Given the description of an element on the screen output the (x, y) to click on. 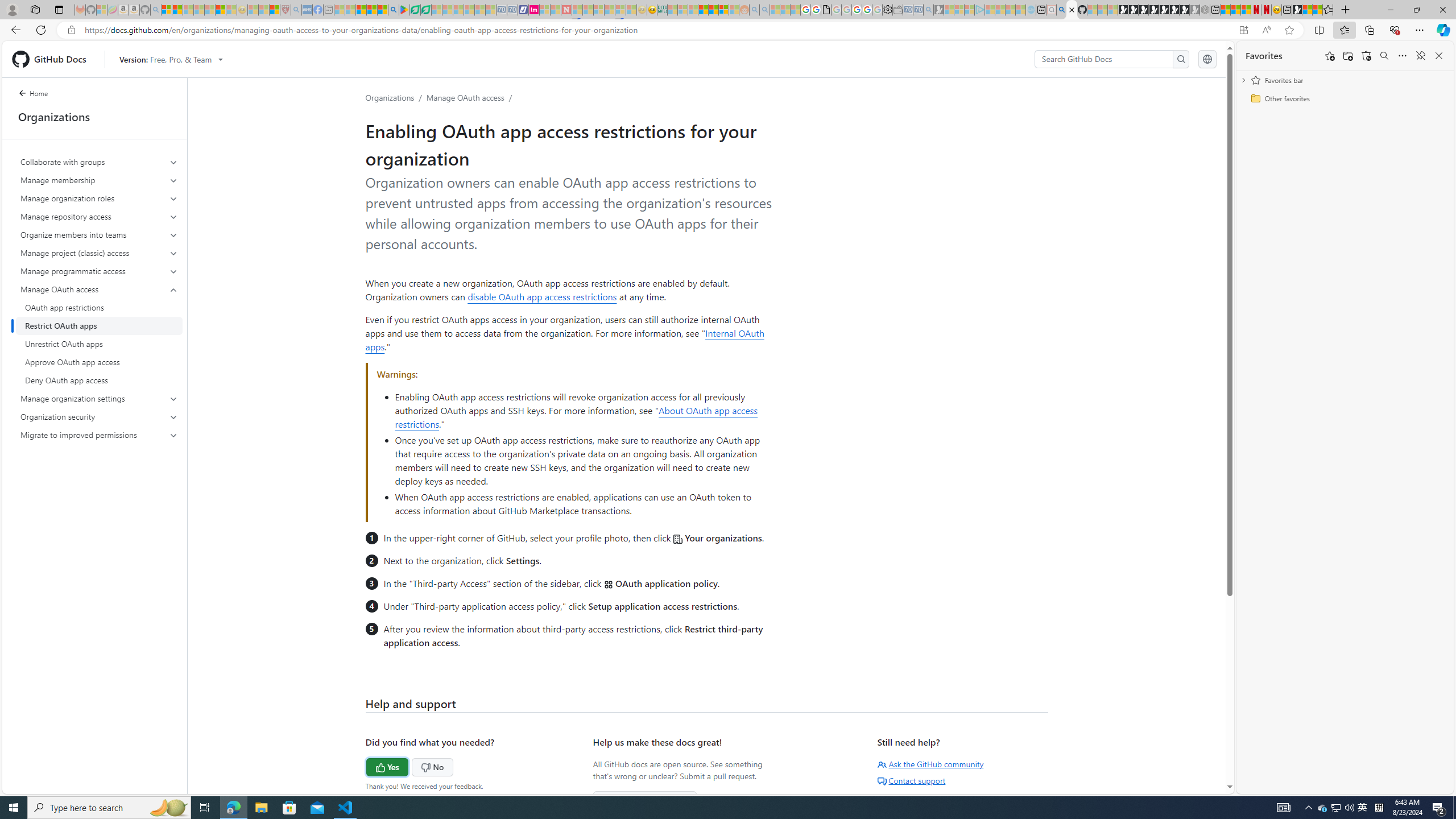
Cheap Hotels - Save70.com - Sleeping (512, 9)
14 Common Myths Debunked By Scientific Facts - Sleeping (588, 9)
New tab - Sleeping (328, 9)
Split screen (1318, 29)
Manage organization settings (99, 398)
Manage OAuth access (99, 289)
Deny OAuth app access (99, 380)
MSNBC - MSN - Sleeping (672, 9)
Restore deleted favorites (1366, 55)
